Given the description of an element on the screen output the (x, y) to click on. 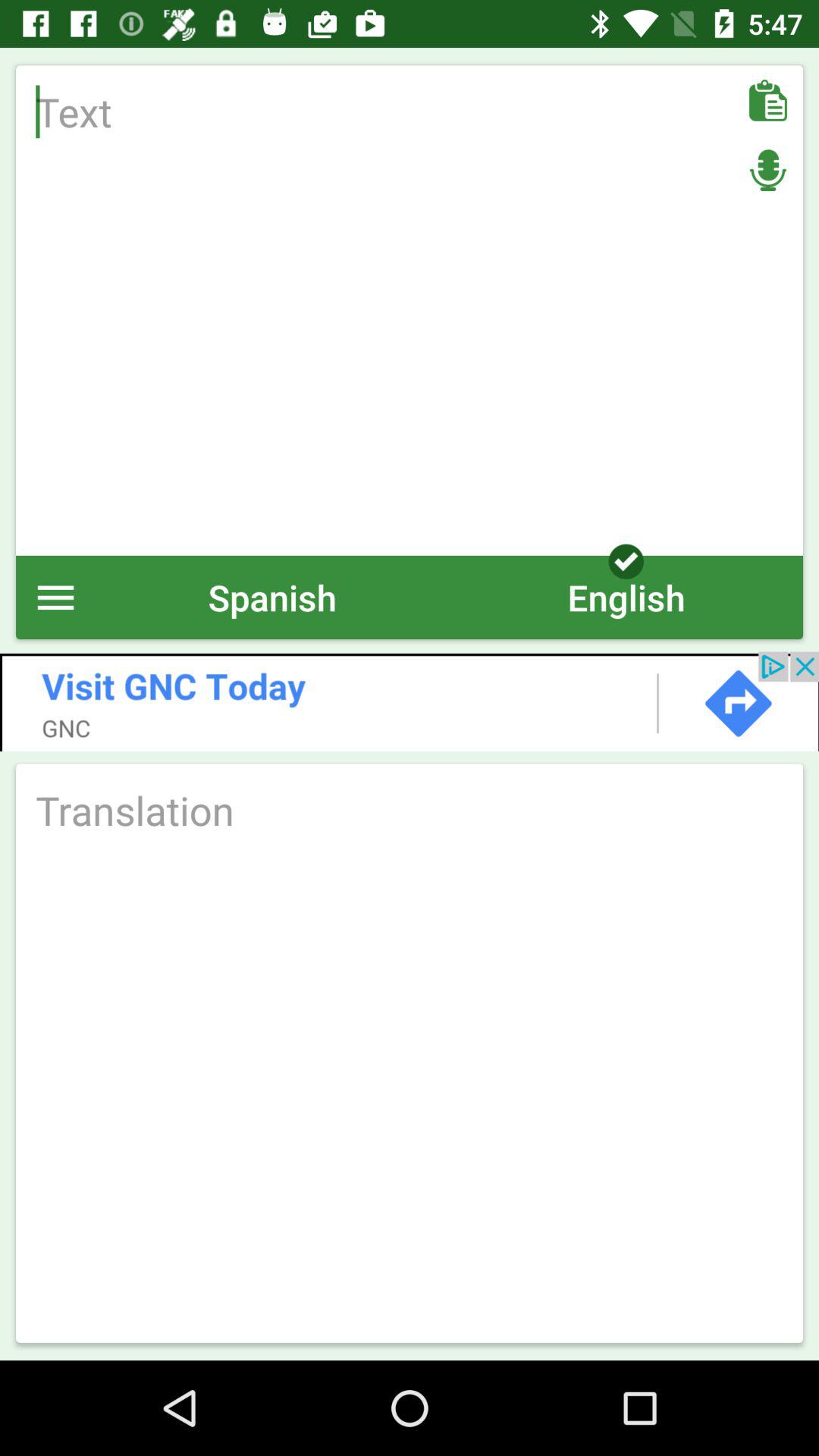
type text (409, 310)
